Given the description of an element on the screen output the (x, y) to click on. 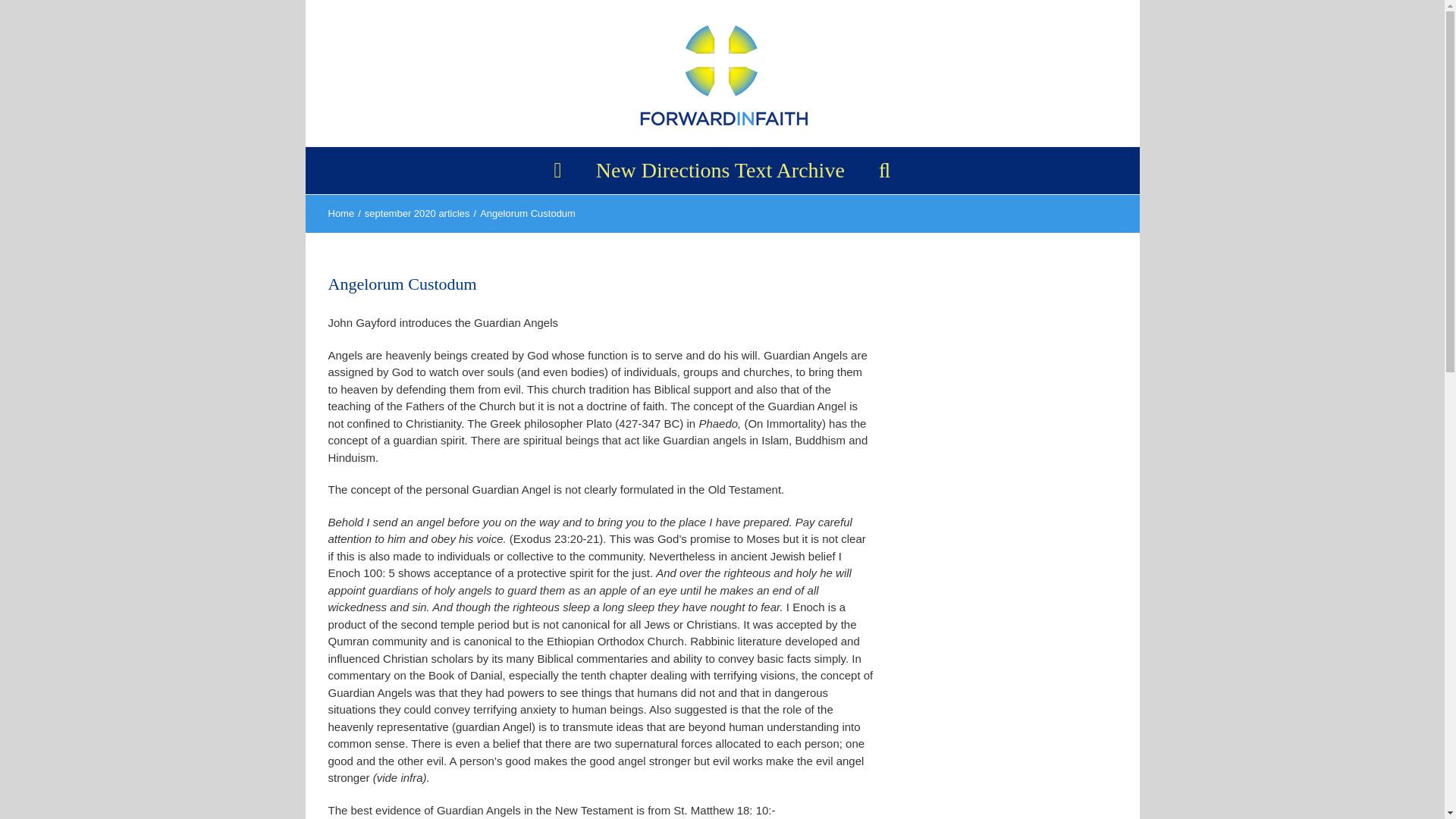
september 2020 articles (417, 213)
New Directions Text Archive (719, 170)
New Directions Directions (719, 170)
Home (340, 213)
